Given the description of an element on the screen output the (x, y) to click on. 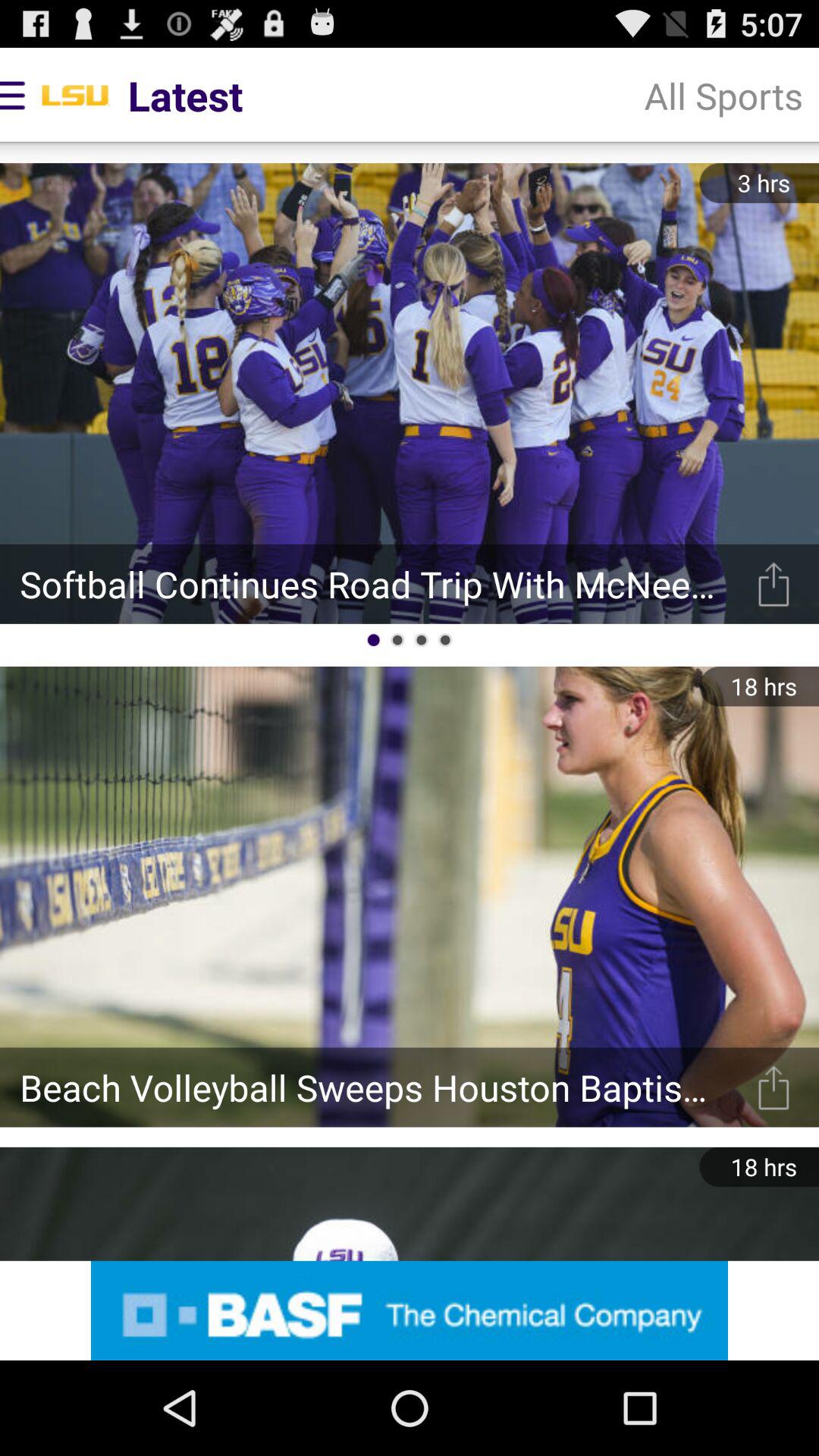
share the article (773, 583)
